Given the description of an element on the screen output the (x, y) to click on. 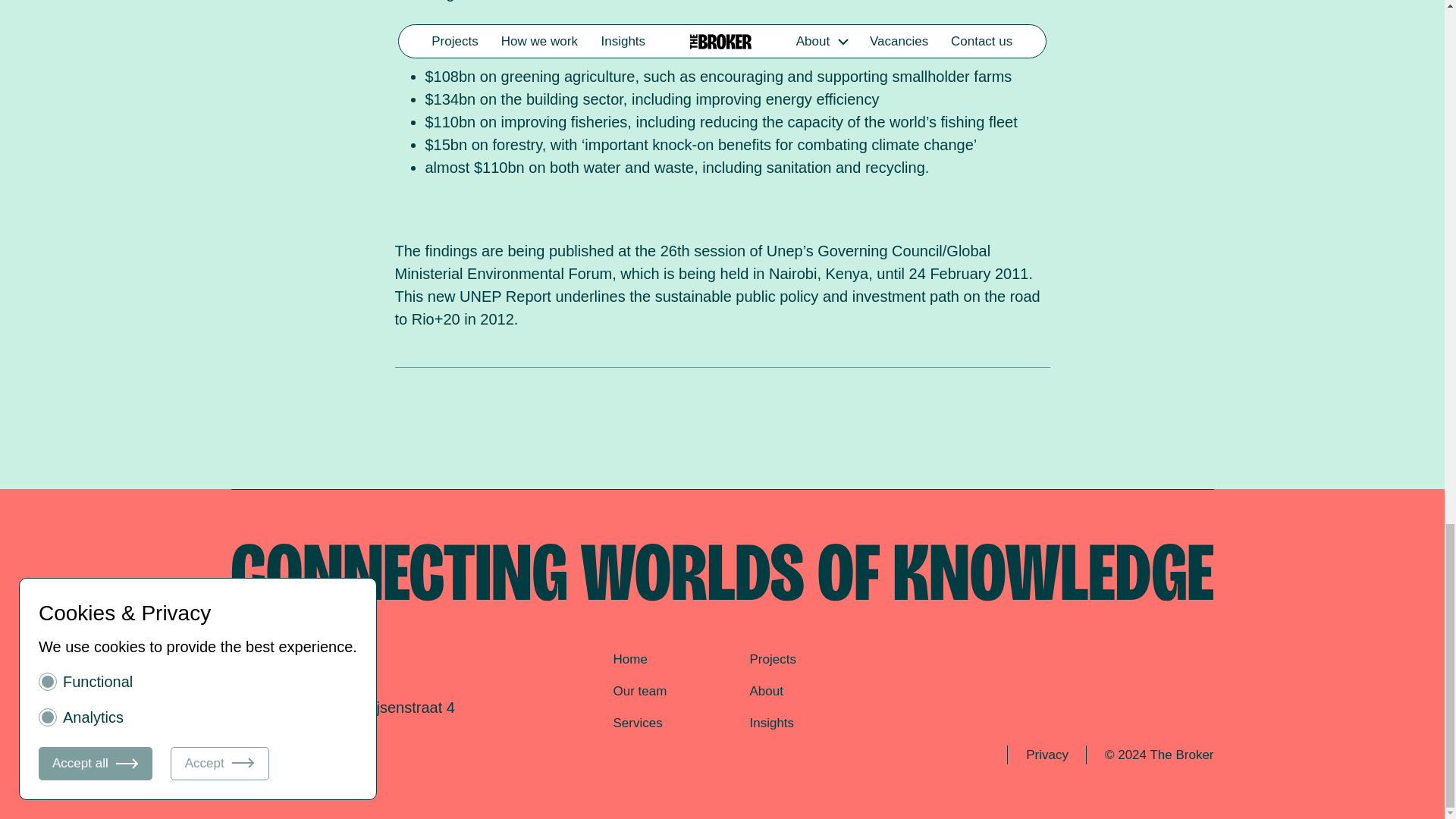
Projects (771, 658)
Our team (639, 690)
Home (629, 658)
Privacy (1046, 754)
About (766, 690)
Services (637, 722)
Insights (771, 722)
